Given the description of an element on the screen output the (x, y) to click on. 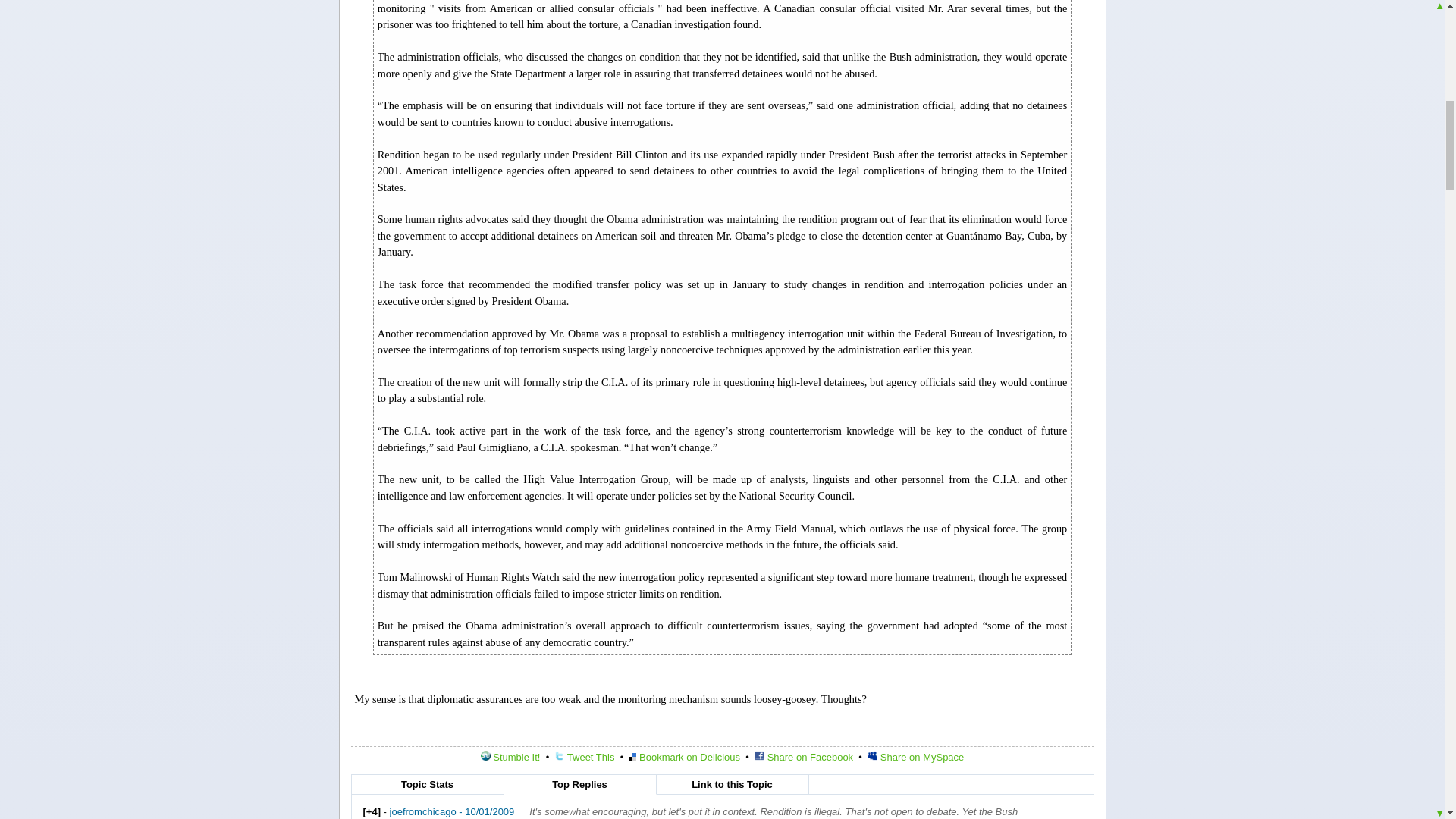
Tweet This (584, 756)
Bookmark on Delicious (683, 756)
Share on MySpace (915, 756)
Stumble It! (510, 756)
Share on Facebook (803, 756)
